Given the description of an element on the screen output the (x, y) to click on. 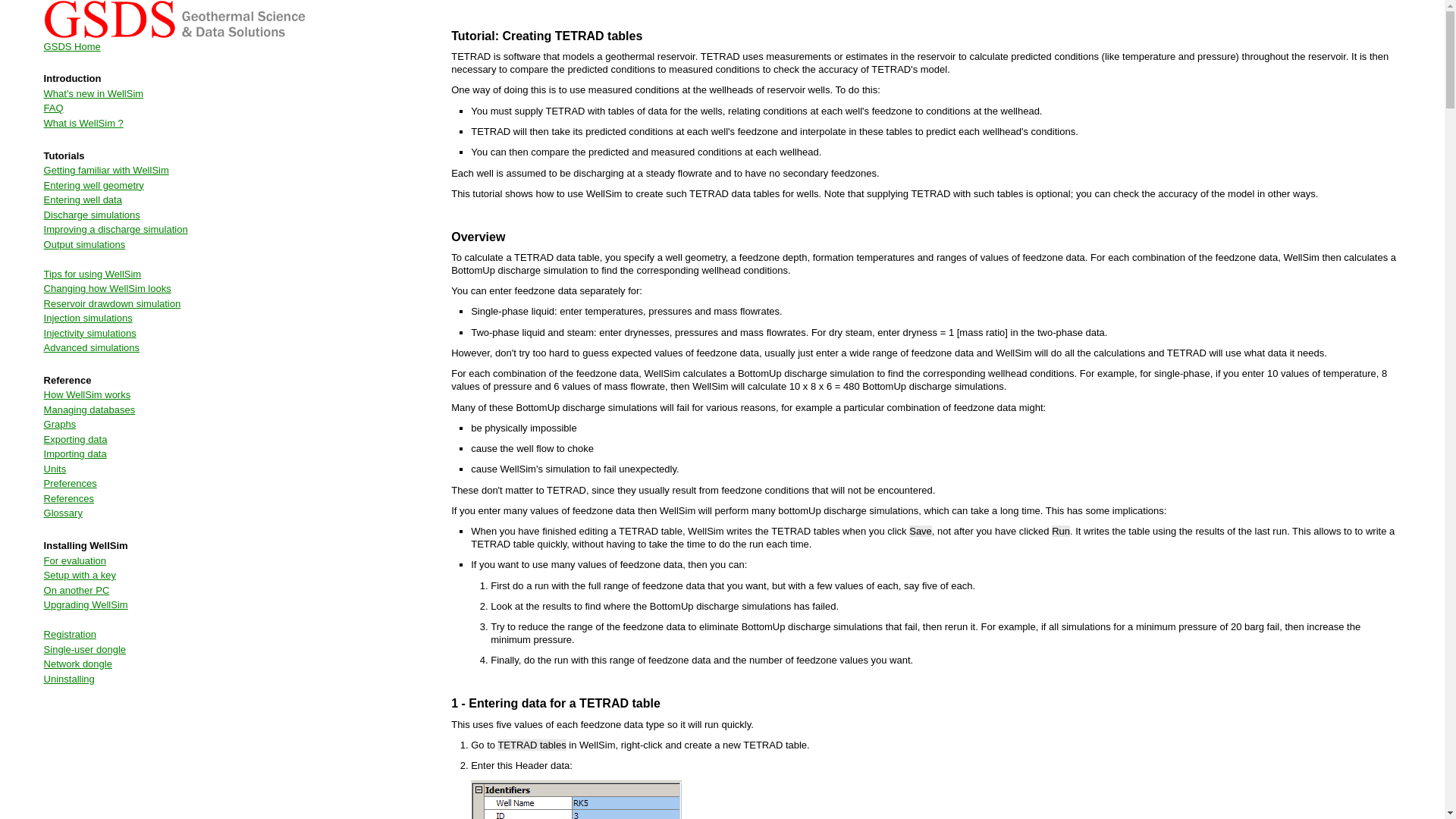
Injectivity simulations (89, 333)
Tips for using WellSim (92, 274)
Advanced simulations (91, 347)
Getting familiar with WellSim (105, 170)
Uninstalling (68, 678)
On another PC (76, 590)
Discharge simulations (91, 214)
Importing data (74, 453)
Upgrading WellSim (85, 604)
References (68, 498)
Setup with a key (79, 574)
What is WellSim ? (83, 122)
Network dongle (77, 663)
How WellSim works (87, 394)
For evaluation (74, 560)
